Given the description of an element on the screen output the (x, y) to click on. 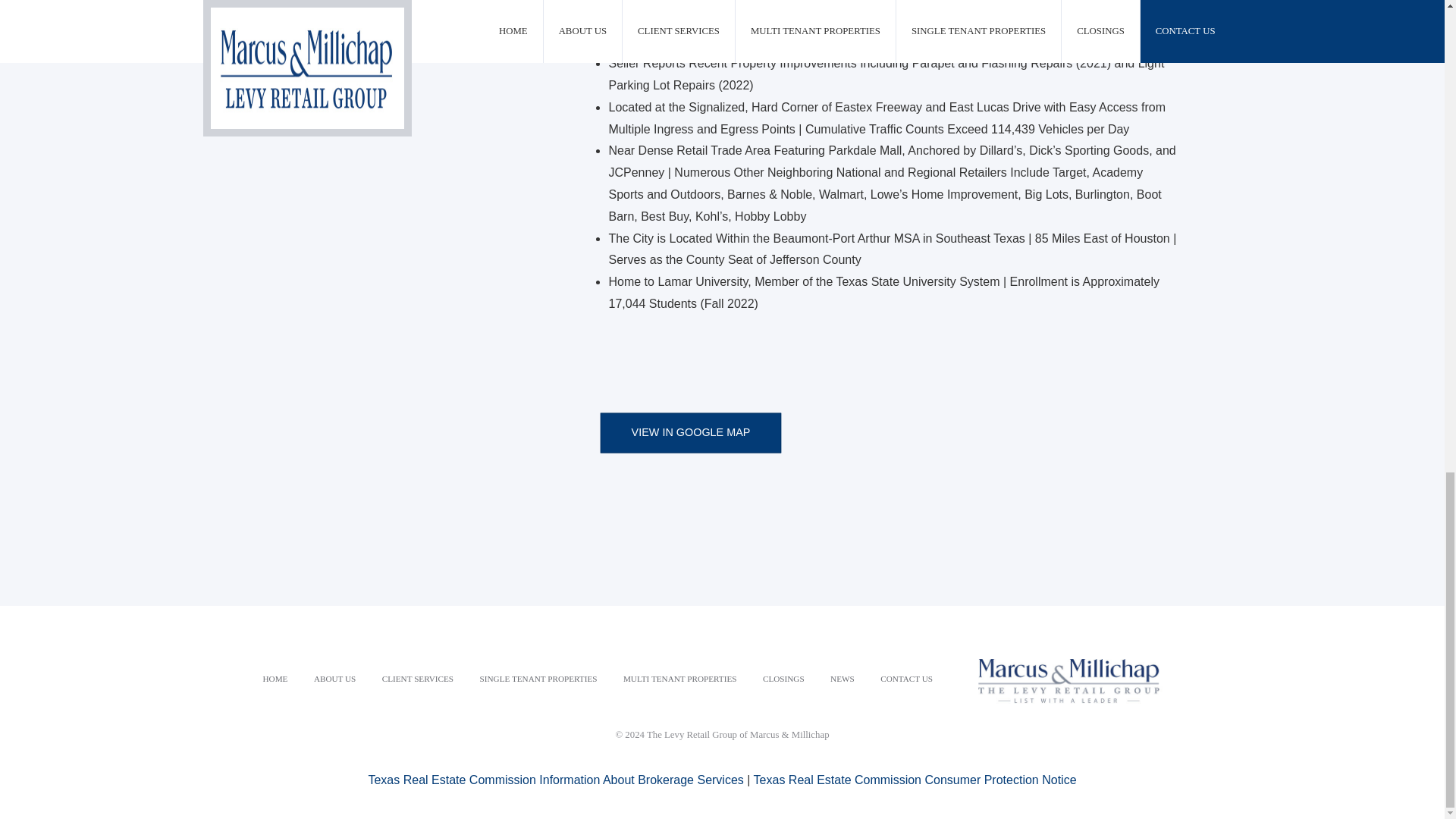
ABOUT US (334, 678)
VIEW IN GOOGLE MAP (713, 437)
CLIENT SERVICES (417, 678)
CONTACT US (906, 678)
HOME (274, 678)
CLOSINGS (783, 678)
Texas Real Estate Commission Consumer Protection Notice (915, 779)
MULTI TENANT PROPERTIES (679, 678)
NEWS (842, 678)
SINGLE TENANT PROPERTIES (538, 678)
